Given the description of an element on the screen output the (x, y) to click on. 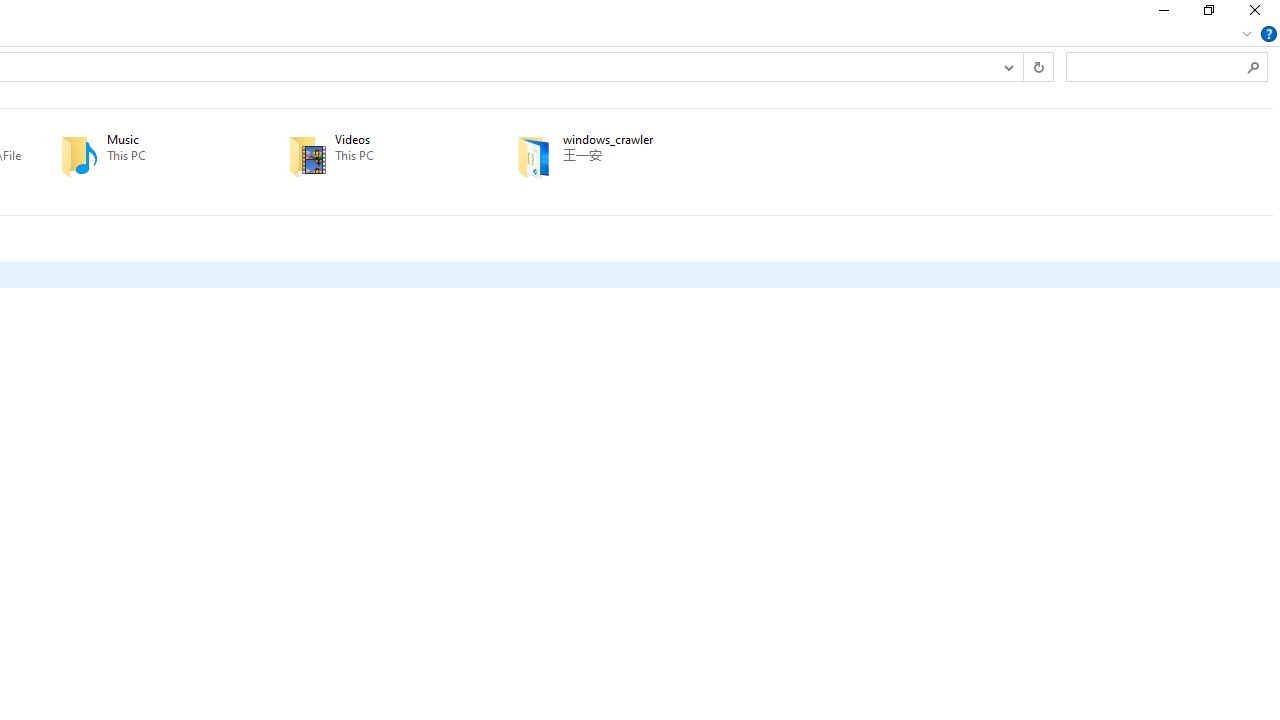
Search (1253, 66)
Previous Locations (1007, 66)
Class: UIImage (534, 155)
windows_crawler (602, 156)
Refresh "Quick access" (F5) (1037, 66)
Music (146, 156)
Path (635, 155)
Address band toolbar (1023, 66)
Videos (374, 156)
Pinned (635, 170)
Restore (1208, 14)
Search Box (1156, 66)
Name (635, 139)
Minimize (1162, 14)
Minimize the Ribbon (1247, 33)
